Given the description of an element on the screen output the (x, y) to click on. 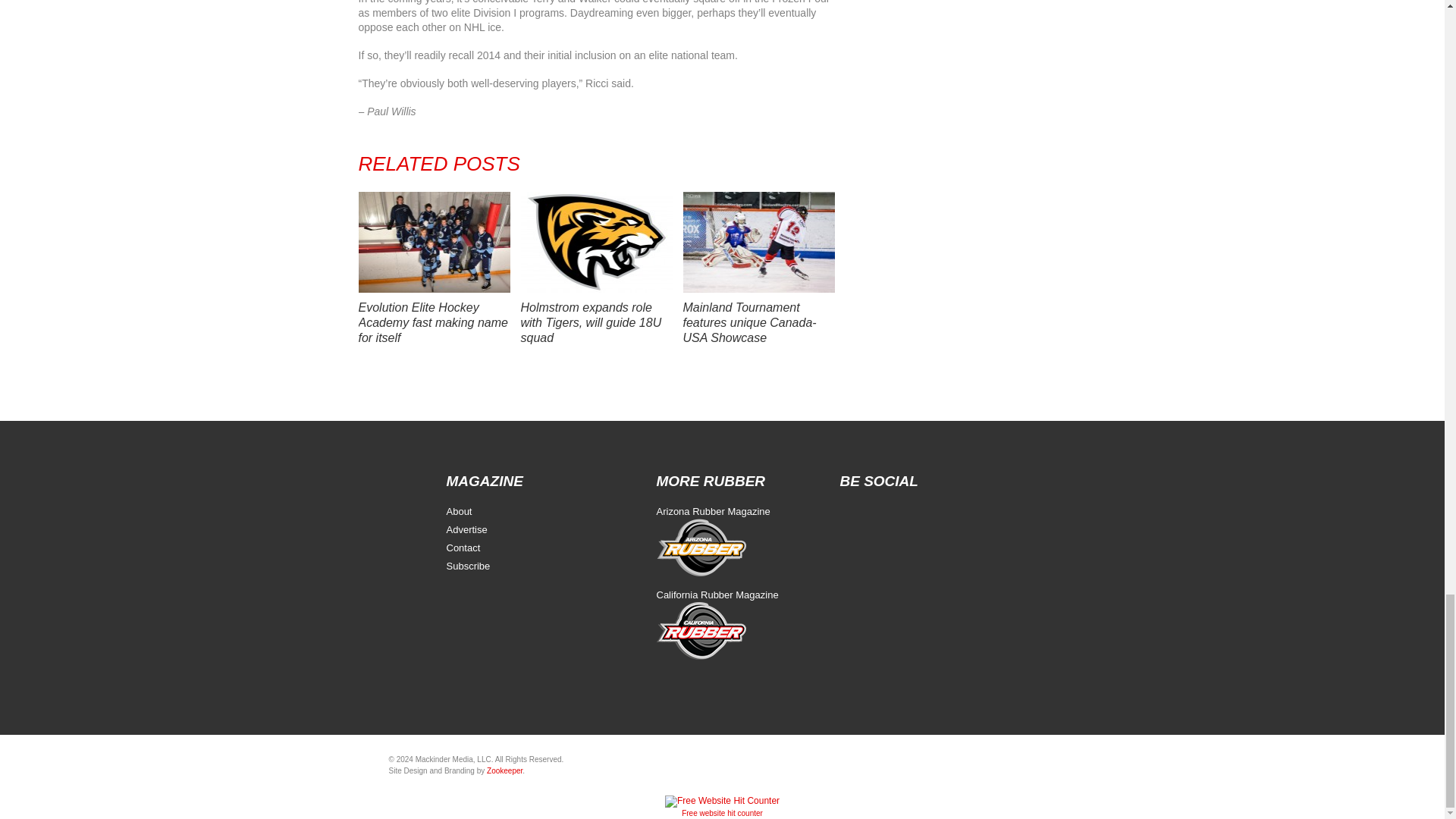
Free Website Hit Counter (721, 813)
Zookeeper (504, 770)
